Given the description of an element on the screen output the (x, y) to click on. 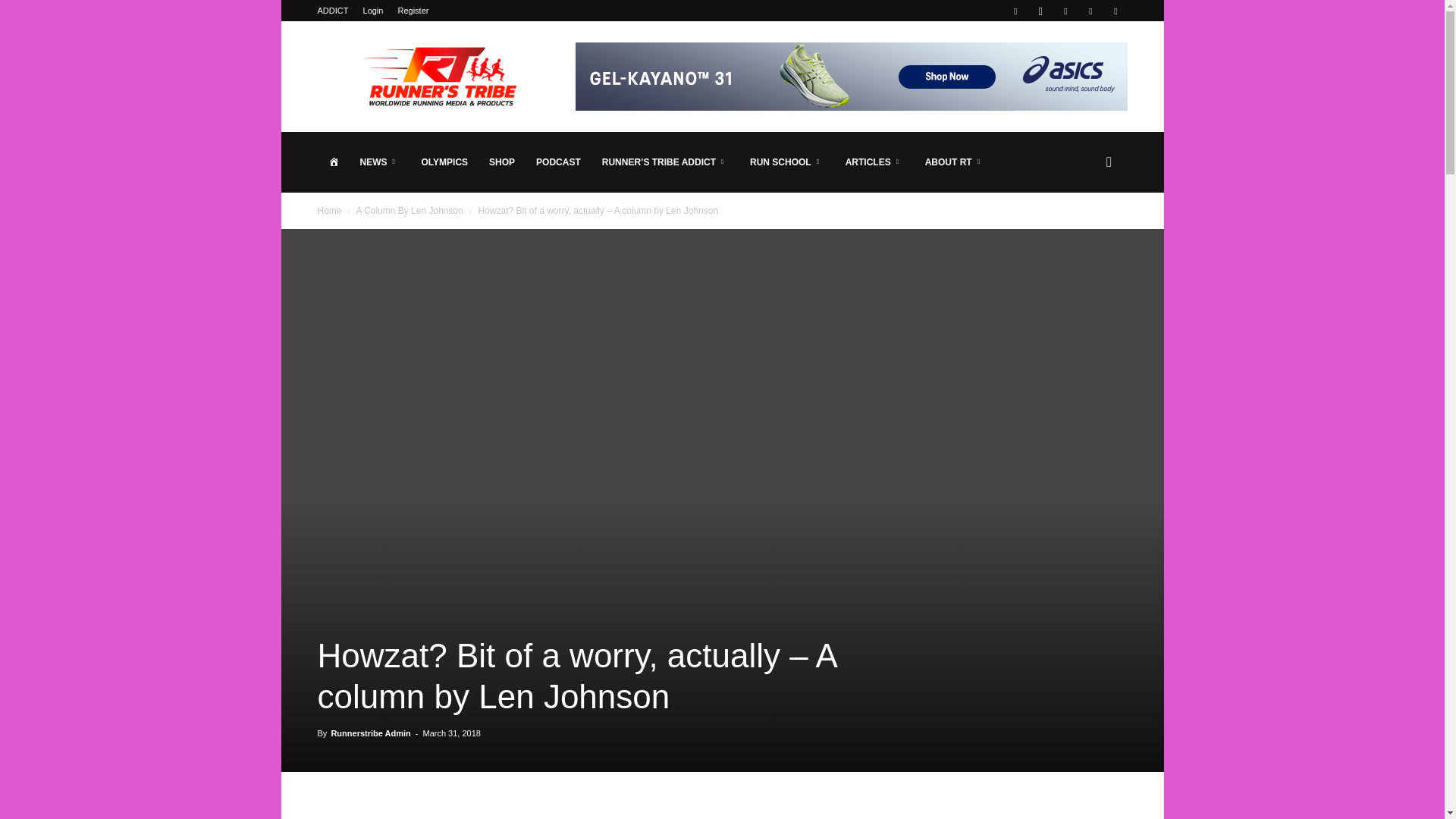
Facebook (1015, 10)
Youtube (1114, 10)
Pinterest (1065, 10)
Twitter (1090, 10)
Instagram (1040, 10)
